Given the description of an element on the screen output the (x, y) to click on. 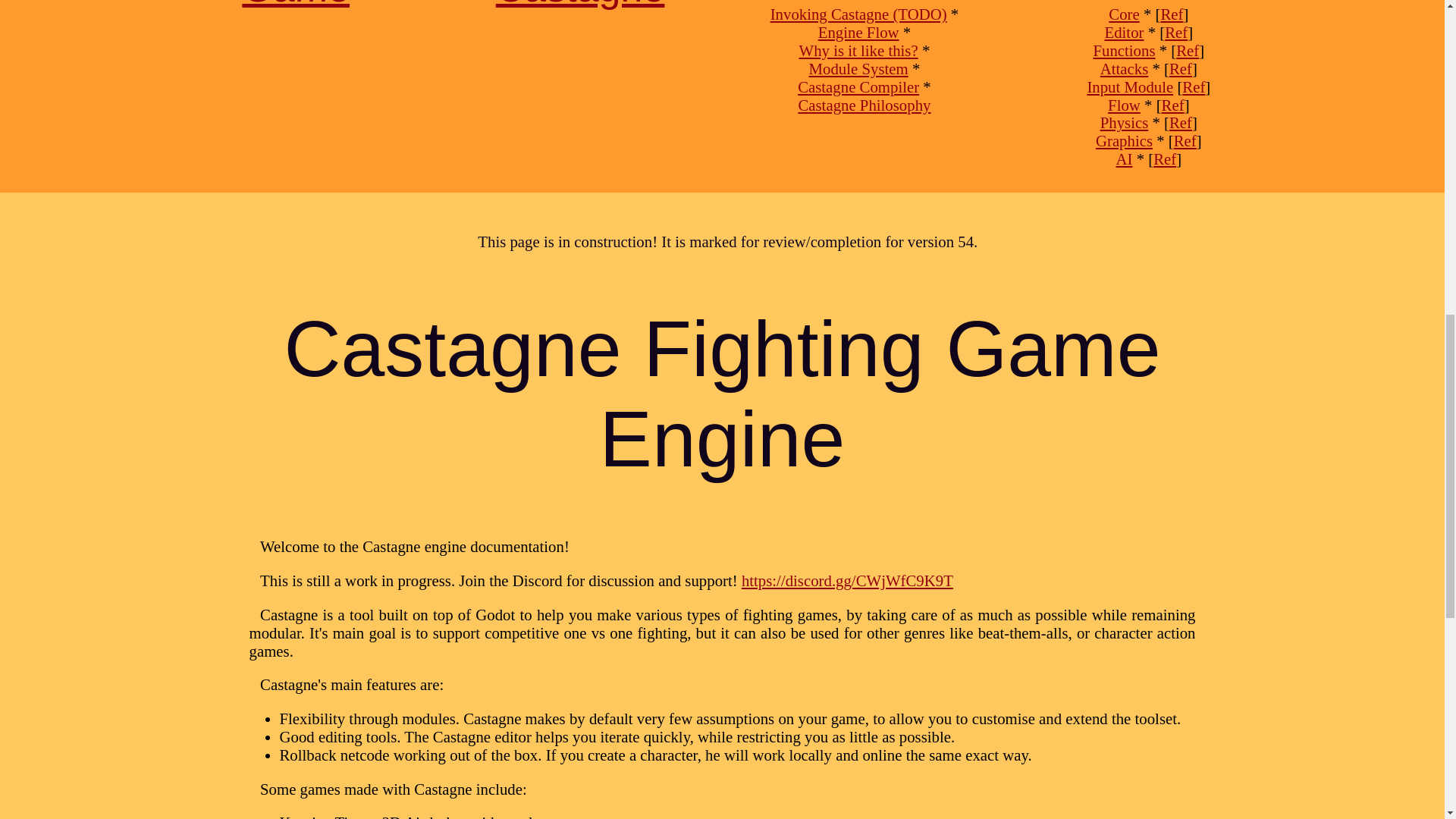
Engine Flow (858, 31)
Why is it like this? (858, 49)
Castagne Philosophy (863, 104)
Castagne Compiler (857, 86)
Making a Game (295, 4)
Pushing Castagne (580, 4)
Core (1123, 13)
Module System (858, 67)
